Given the description of an element on the screen output the (x, y) to click on. 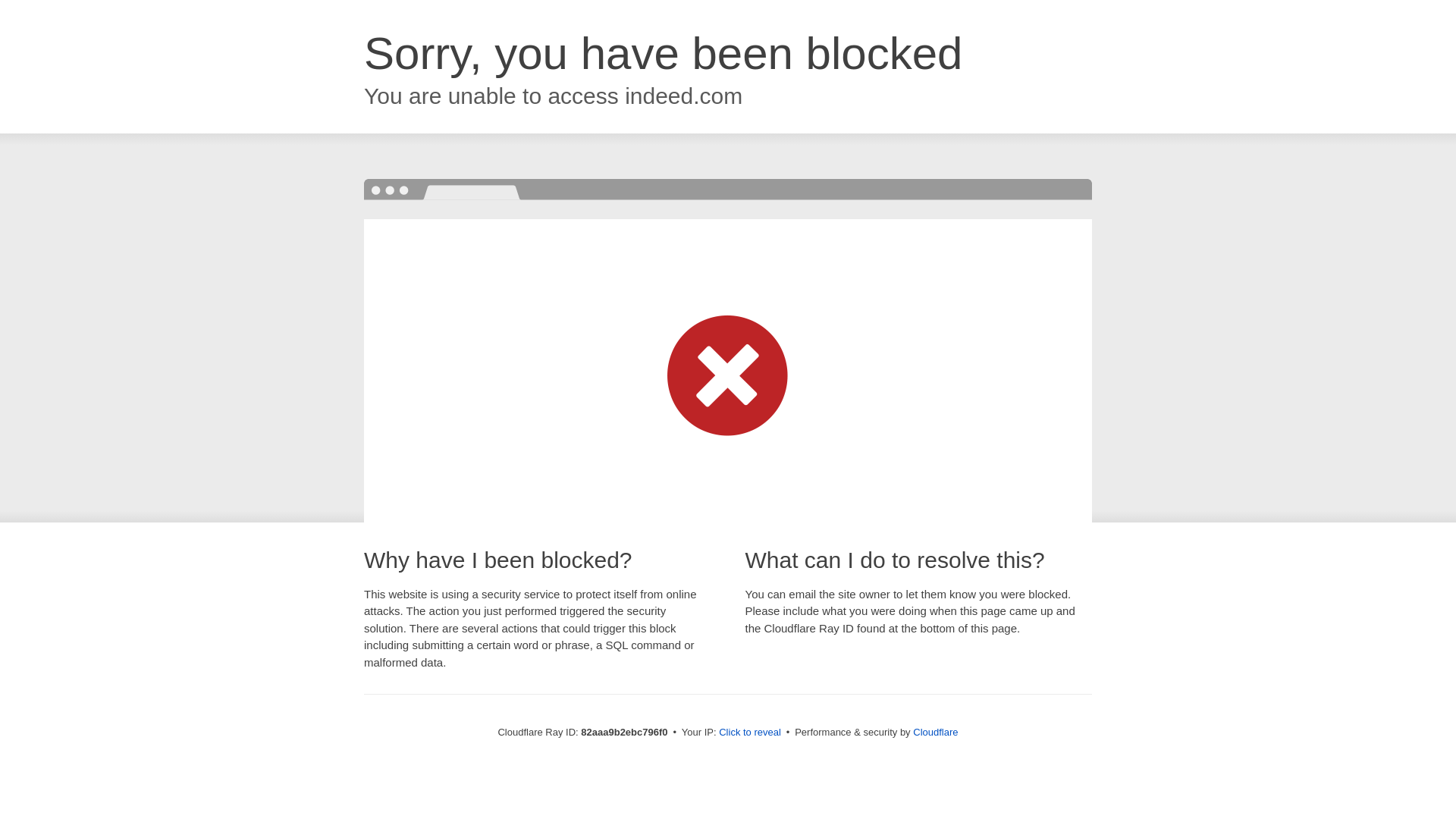
Cloudflare Element type: text (935, 731)
Click to reveal Element type: text (749, 732)
